Given the description of an element on the screen output the (x, y) to click on. 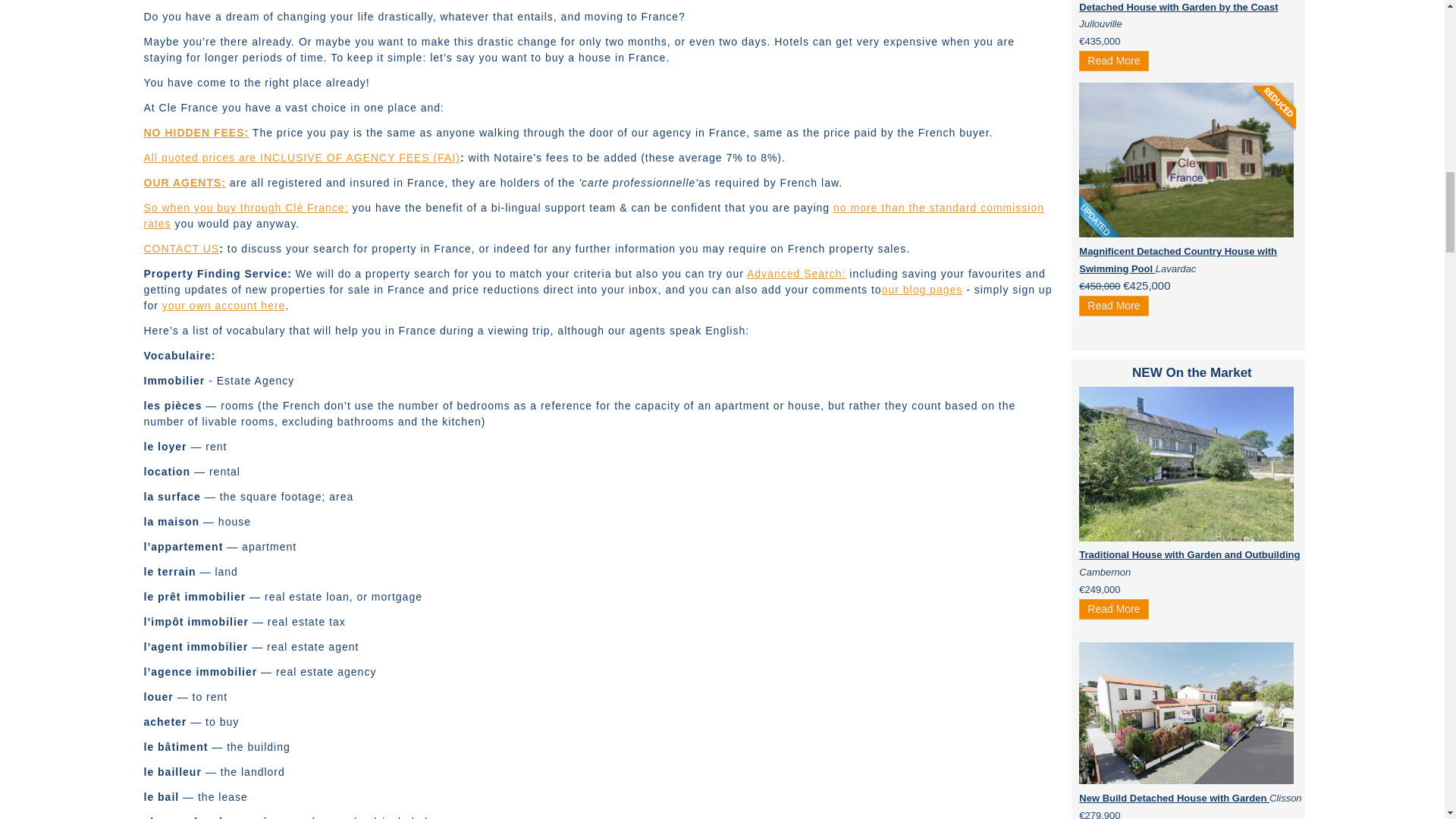
Property for sale in France - About Us page (246, 207)
Property for sale in France - Contact Us (181, 248)
Property for sale in France - Advanced Search (795, 273)
Cle France Blog pages (922, 289)
Property for sale in France - The Buying Process (302, 157)
Property for sale in France - The Buying Process (594, 215)
Open a Cle France account (223, 305)
Property for sale in France - The Buying Process (196, 132)
Property for sale in France - Buying Process - The Basics (184, 182)
